Given the description of an element on the screen output the (x, y) to click on. 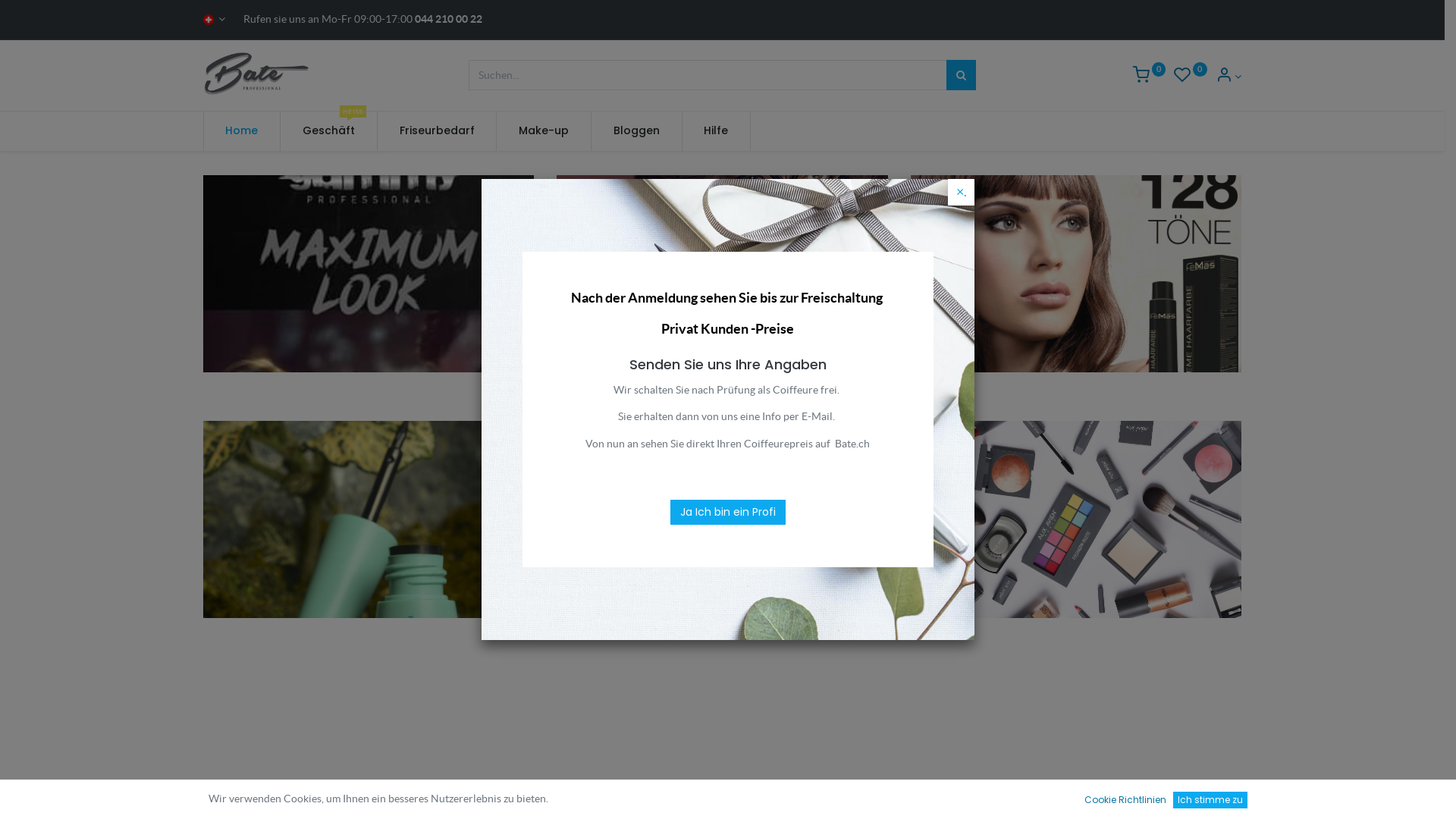
Hilfe Element type: text (716, 130)
Make-up Element type: text (543, 130)
Bate Professional Element type: hover (257, 73)
Friseurbedarf Element type: text (436, 130)
Ich stimme zu Element type: text (1210, 799)
0 Element type: text (1190, 76)
Cookie Richtlinien Element type: text (1124, 799)
Home Element type: text (241, 130)
0 Element type: text (1149, 76)
Bloggen Element type: text (636, 130)
